Given the description of an element on the screen output the (x, y) to click on. 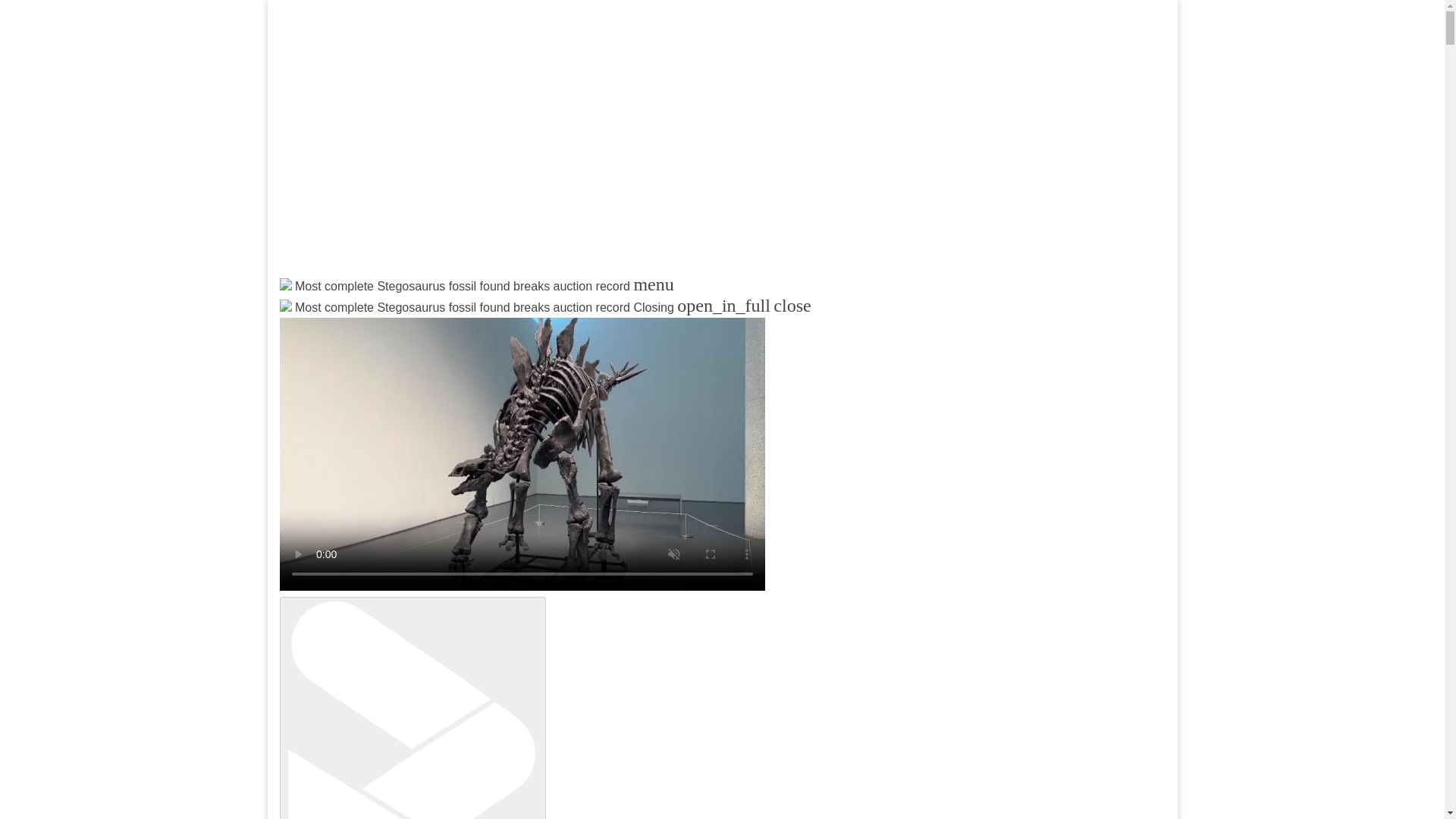
Skope Entertainment Inc (462, 323)
Skope Entertainment Inc (462, 323)
YouTube video player (478, 149)
